Given the description of an element on the screen output the (x, y) to click on. 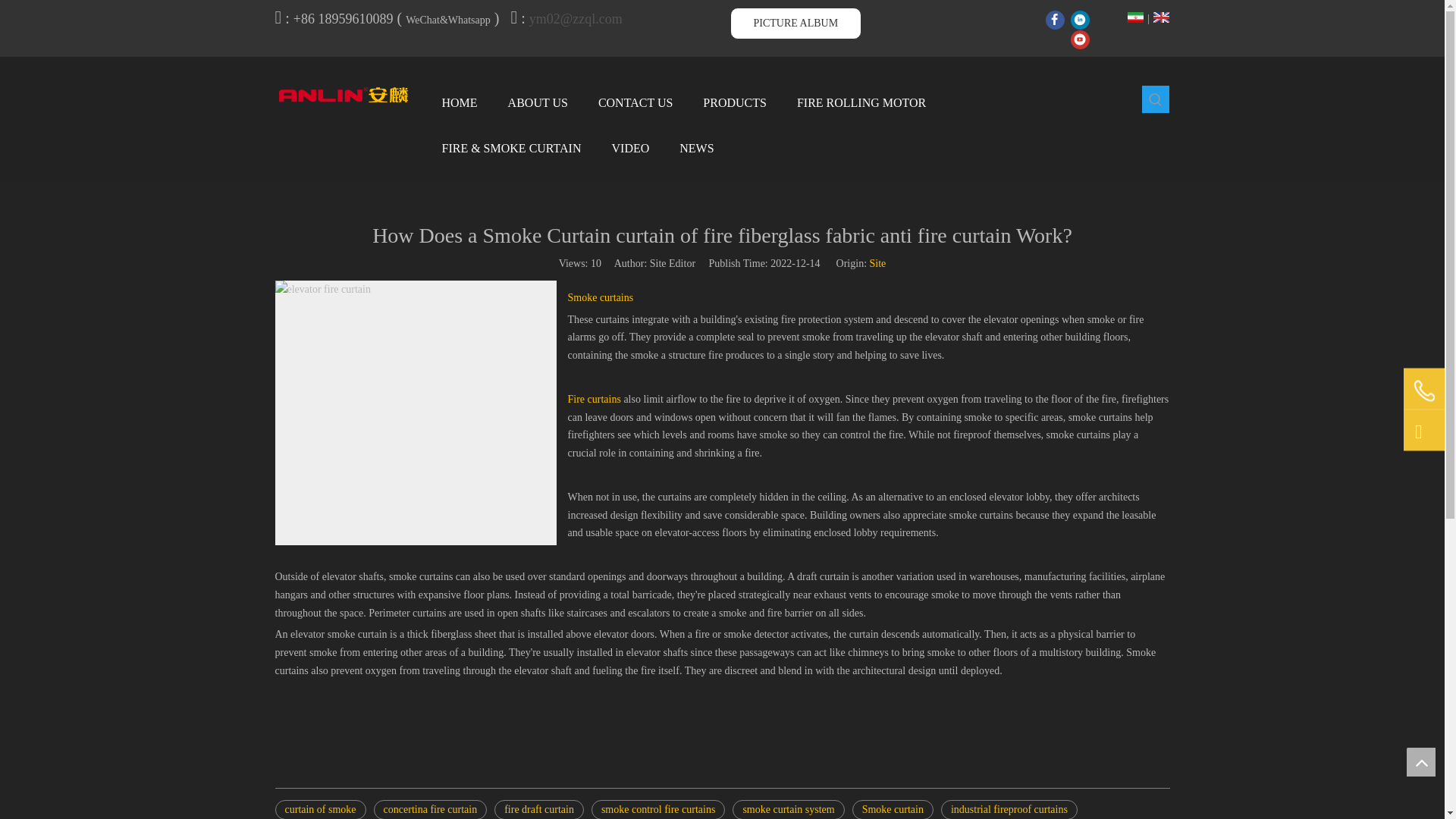
Smoke curtain (892, 809)
smoke curtain system (788, 809)
smoke control fire curtains (658, 809)
Facebook (1054, 19)
Youtube (1079, 38)
Linkedin (1079, 19)
concertina fire curtain (430, 809)
curtain of smoke (320, 809)
fire draft curtain (539, 809)
CONTACT US (635, 103)
industrial fireproof curtains (1008, 809)
PRODUCTS (735, 103)
PICTURE ALBUM (795, 23)
FIRE ROLLING MOTOR  (862, 103)
ABOUT US (537, 103)
